Given the description of an element on the screen output the (x, y) to click on. 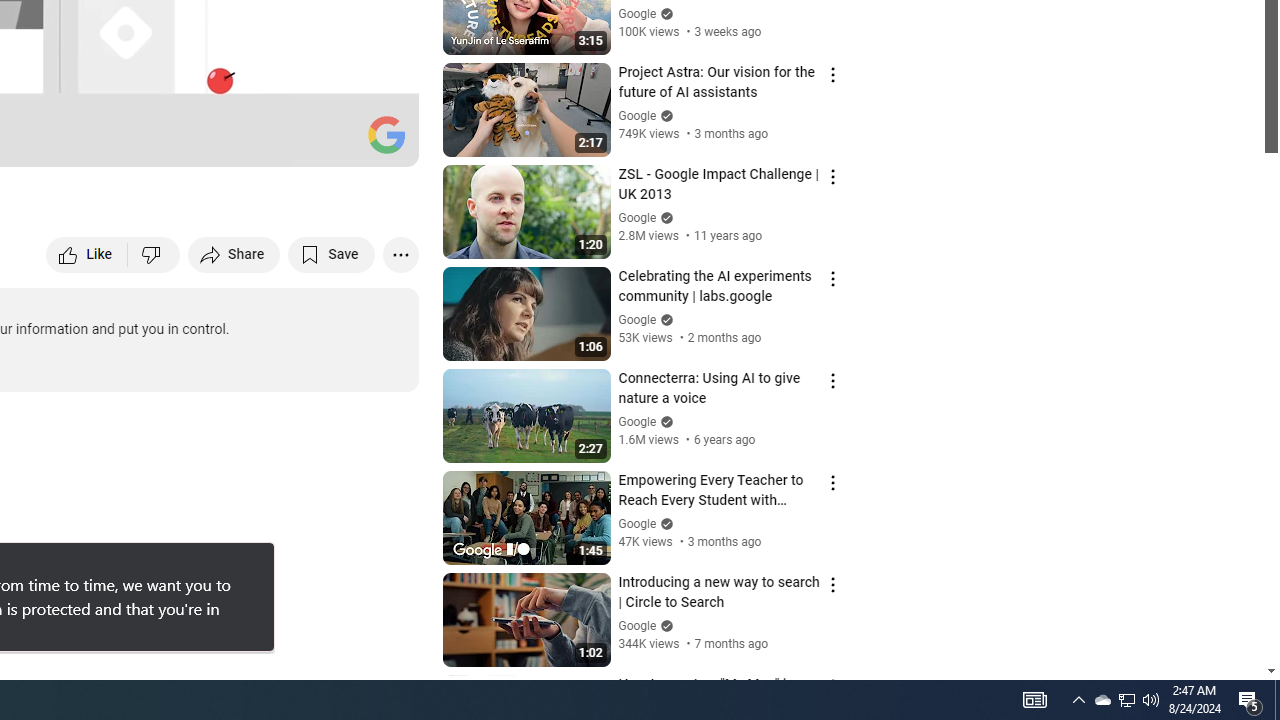
Miniplayer (i) (286, 142)
Theater mode (t) (333, 142)
Like (87, 254)
Share (234, 254)
